Given the description of an element on the screen output the (x, y) to click on. 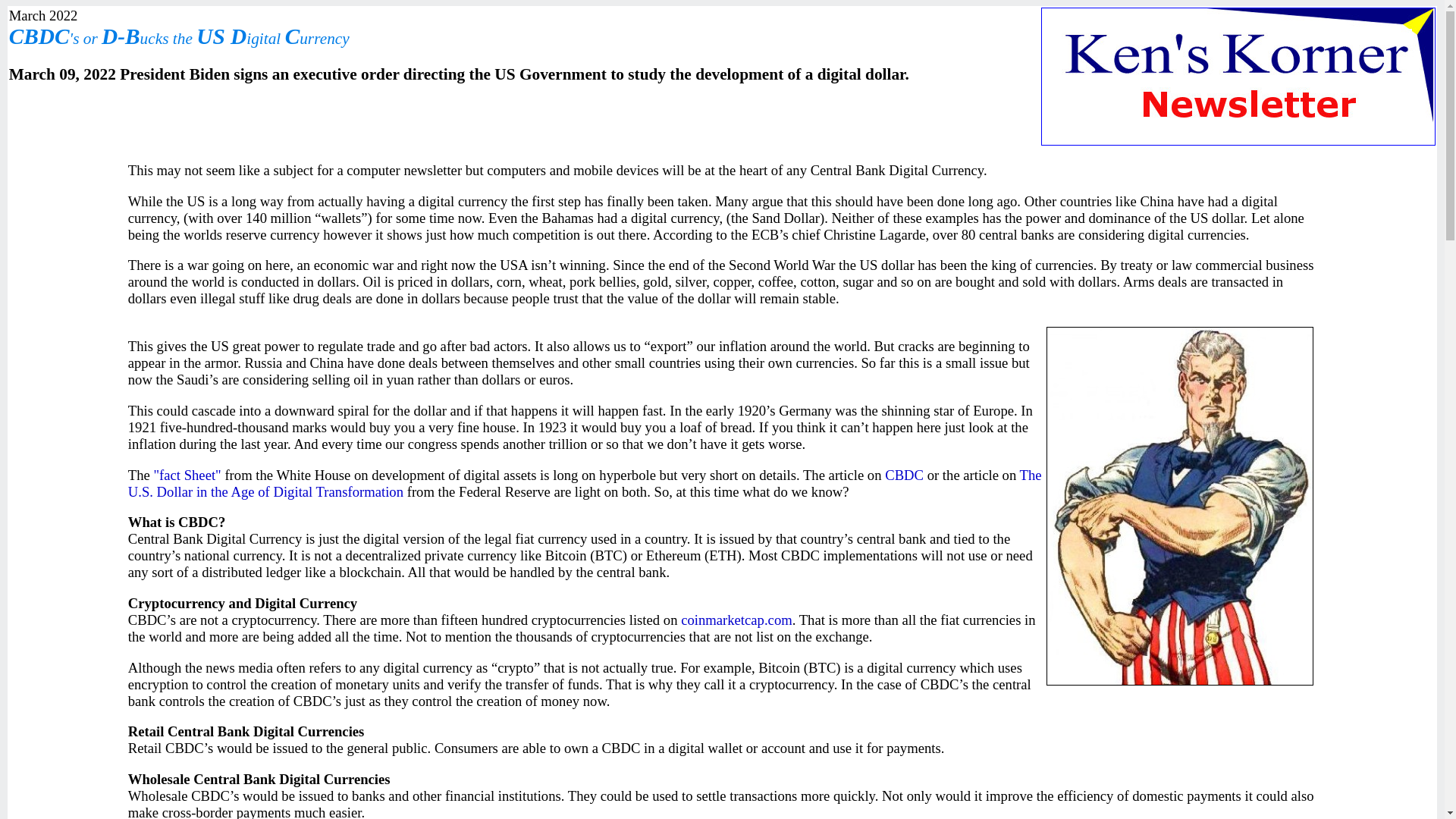
"fact Sheet" (186, 474)
CBDC (904, 474)
coinmarketcap.com (736, 619)
The U.S. Dollar in the Age of Digital Transformation (585, 482)
